Given the description of an element on the screen output the (x, y) to click on. 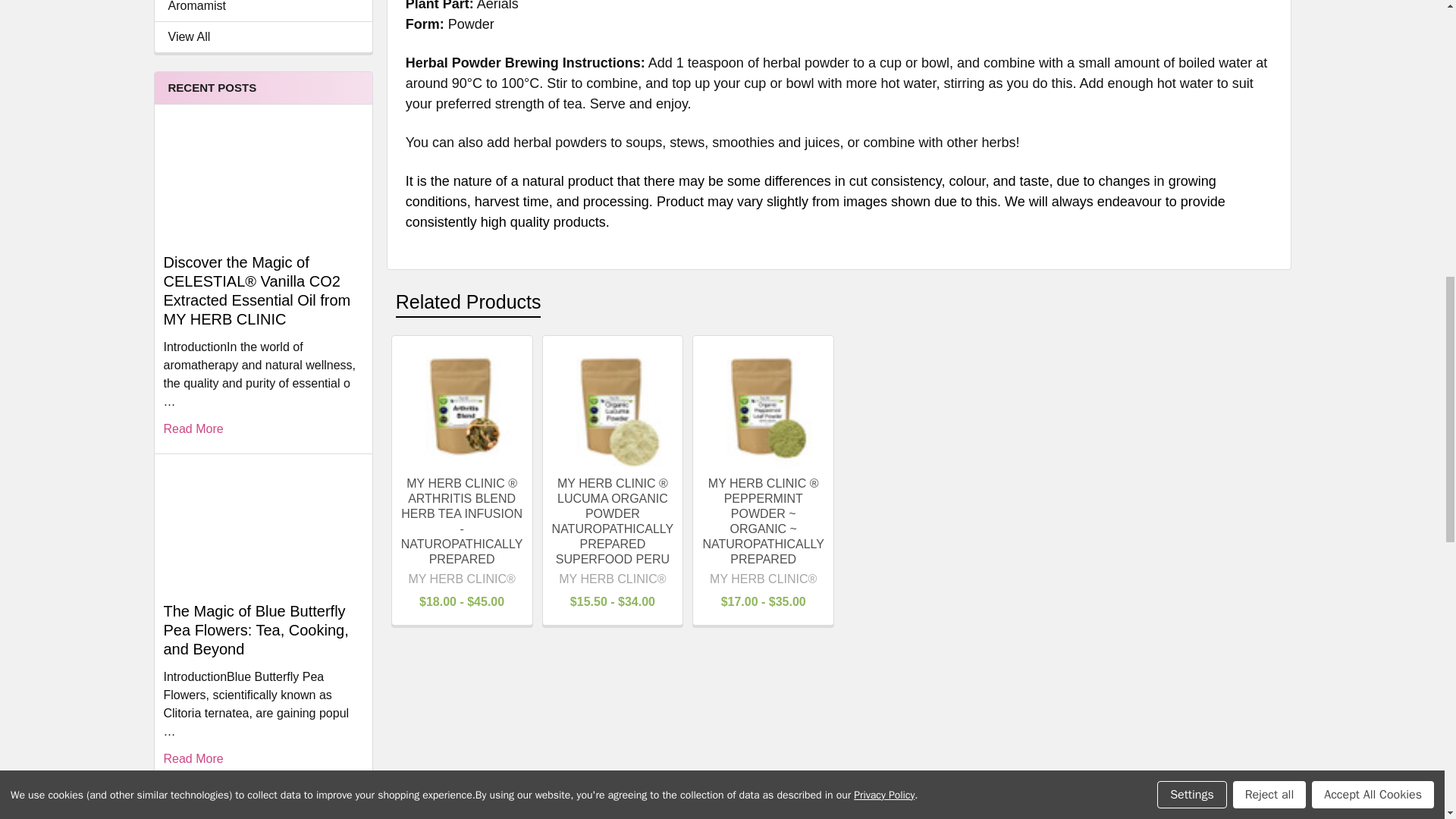
Aromamist (263, 7)
Creative Recipe Ideas Using Beetroot Powder (262, 804)
